Given the description of an element on the screen output the (x, y) to click on. 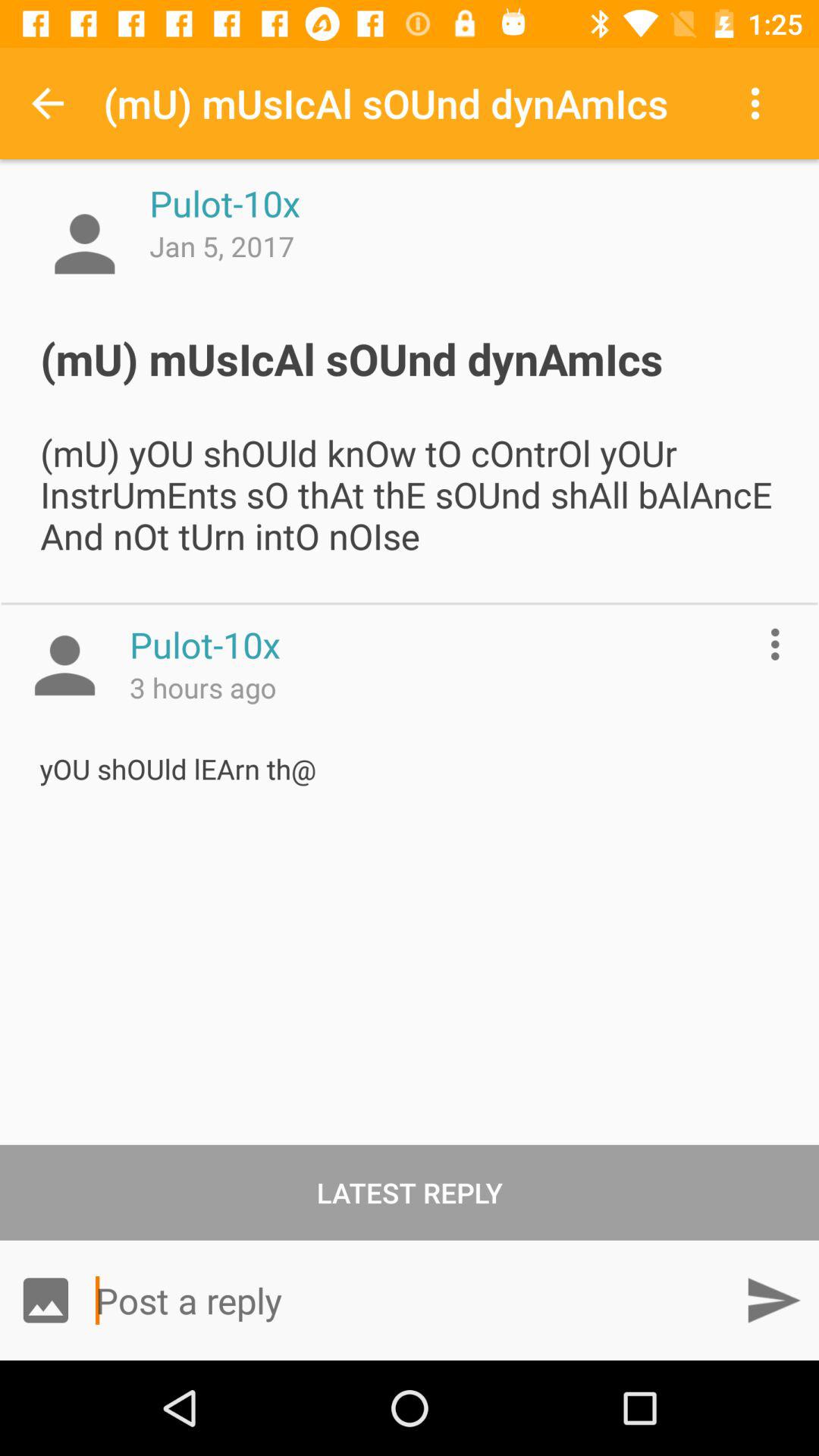
press item above mu musical sound item (759, 103)
